Given the description of an element on the screen output the (x, y) to click on. 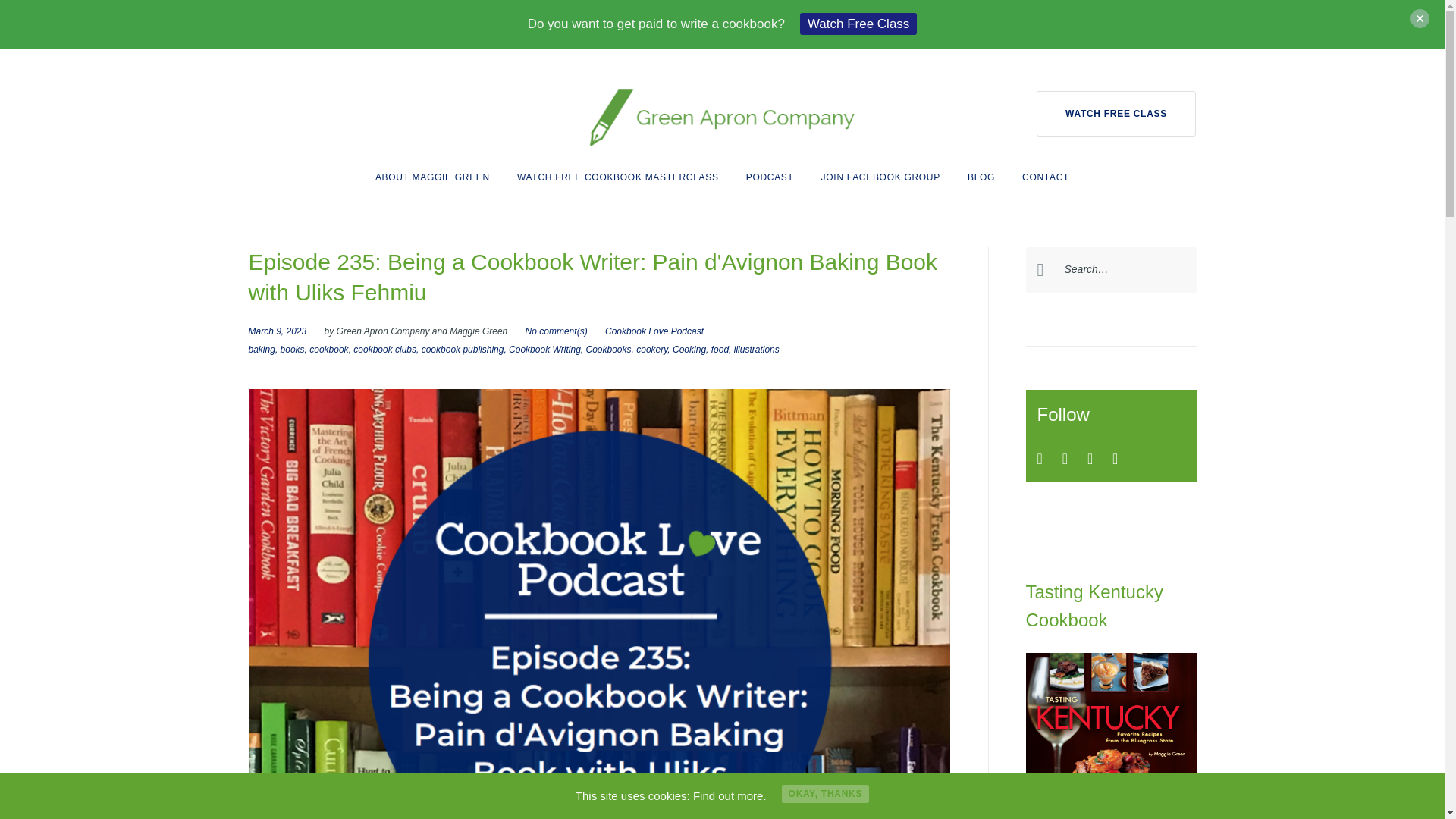
cookery (651, 348)
Cooking (689, 348)
books (292, 348)
cookbook publishing (462, 348)
Green Apron Company and Maggie Green (422, 330)
food (720, 348)
CONTACT (1045, 177)
Cookbook Love Podcast (654, 330)
illustrations (755, 348)
cookbook (327, 348)
PODCAST (769, 177)
JOIN FACEBOOK GROUP (880, 177)
March 9, 2023 (277, 330)
cookbook clubs (384, 348)
